Given the description of an element on the screen output the (x, y) to click on. 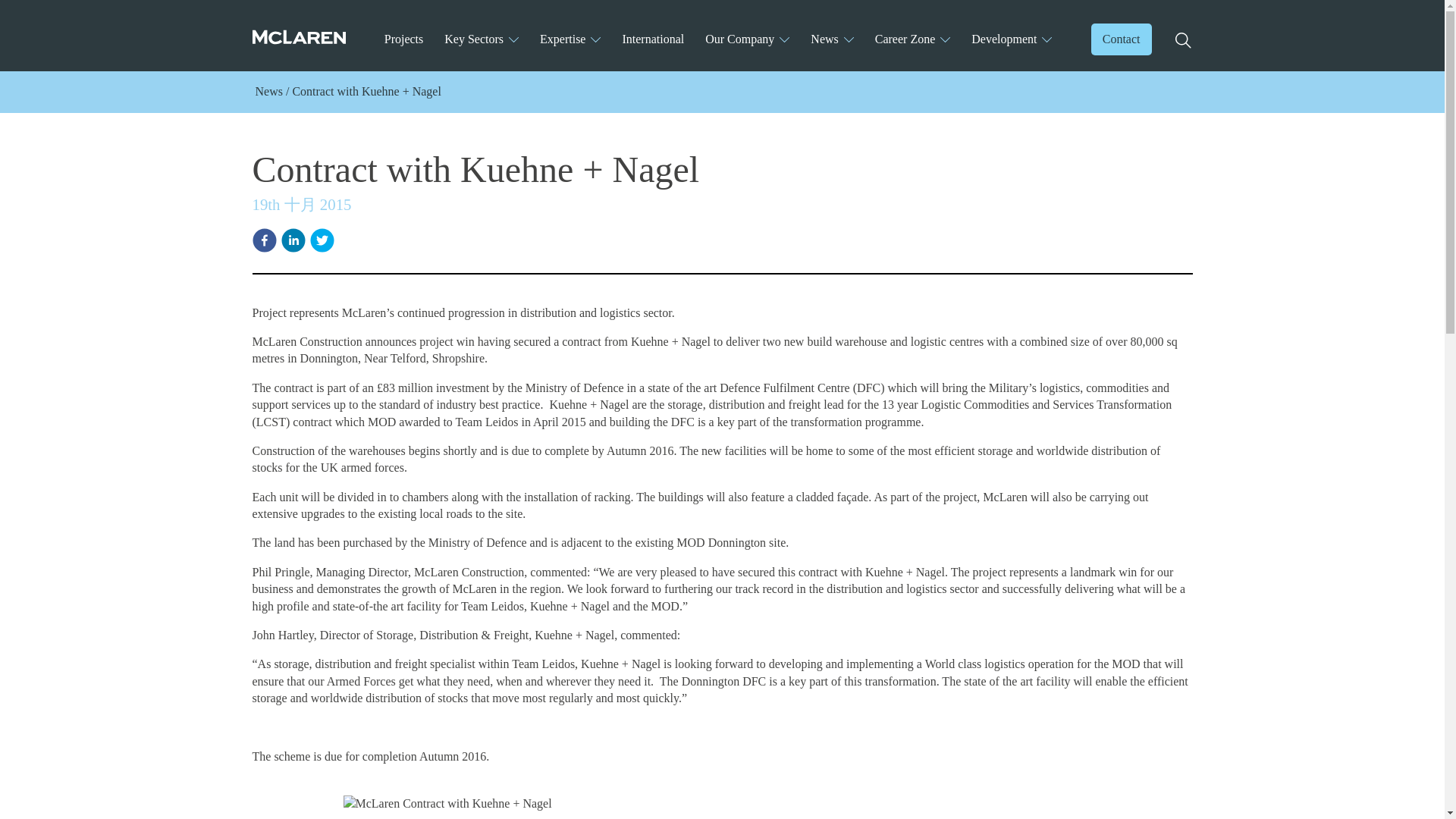
Projects (403, 38)
